Given the description of an element on the screen output the (x, y) to click on. 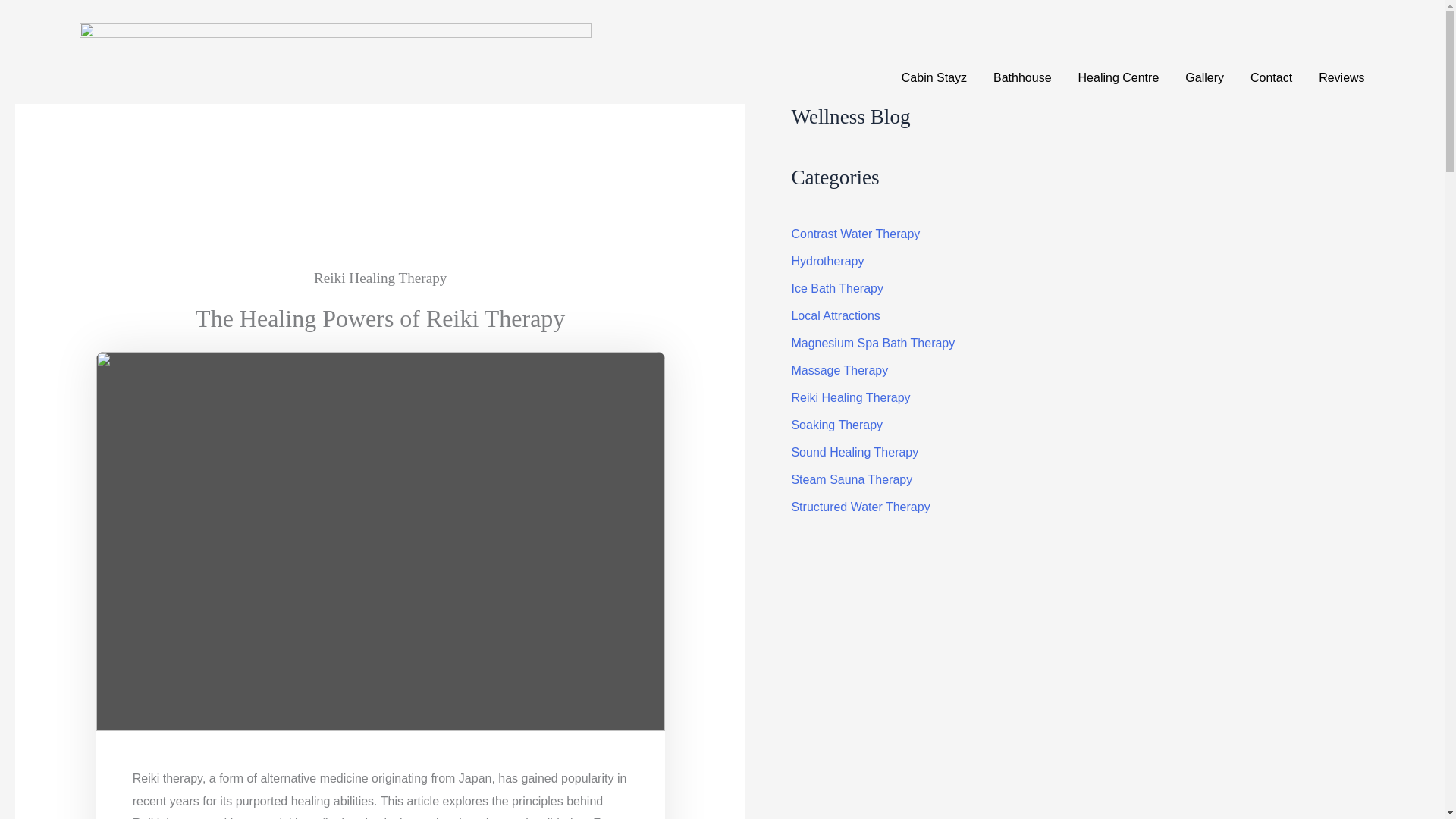
Healing Centre (1118, 77)
Reiki Healing Therapy (380, 281)
Bathhouse (1021, 77)
Gallery (1204, 77)
Cabin Stayz (933, 77)
Reviews (1341, 77)
Contact (1271, 77)
